Given the description of an element on the screen output the (x, y) to click on. 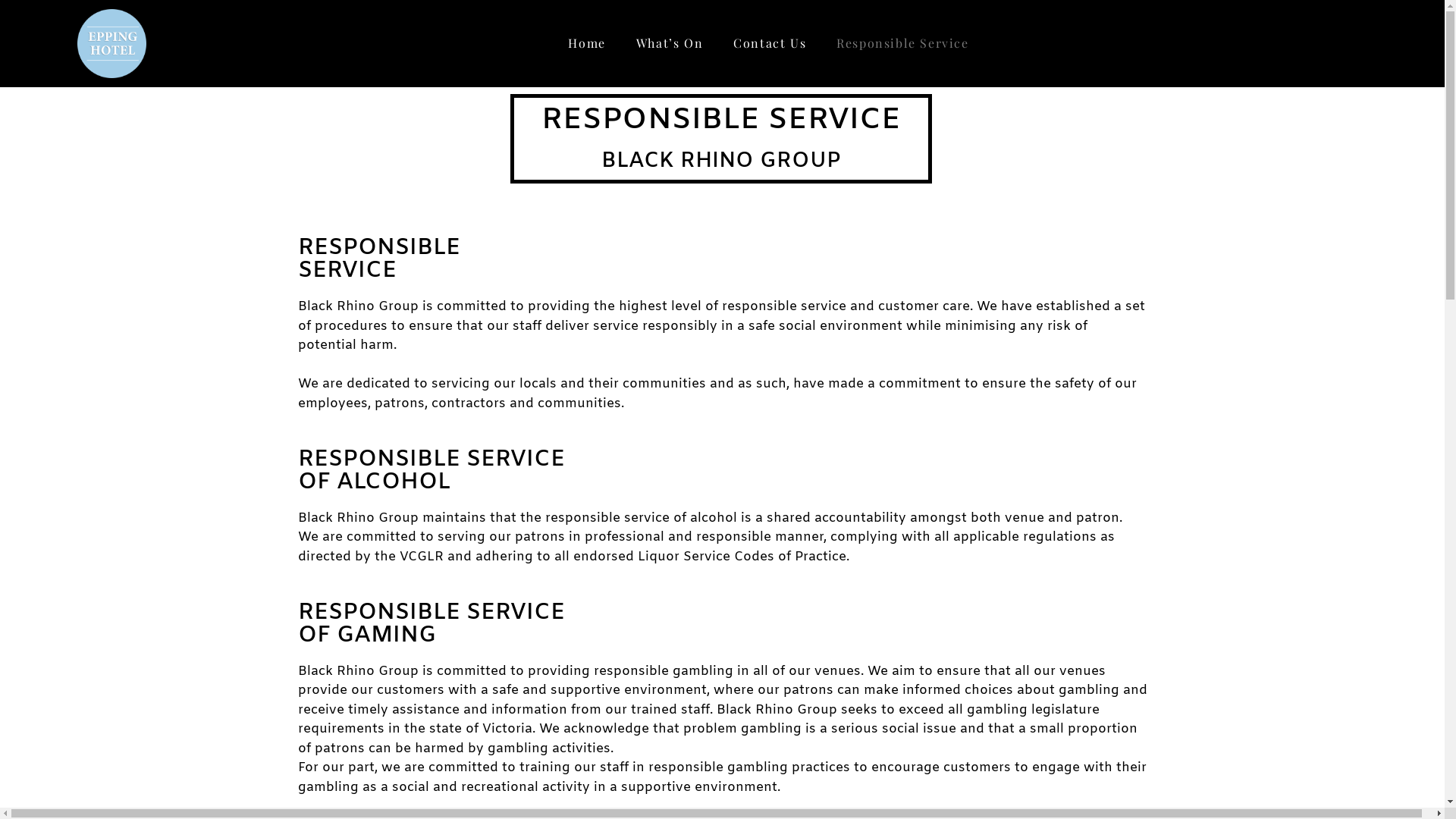
Contact Us Element type: text (769, 43)
Responsible Service Element type: text (902, 43)
Home Element type: text (586, 43)
